Given the description of an element on the screen output the (x, y) to click on. 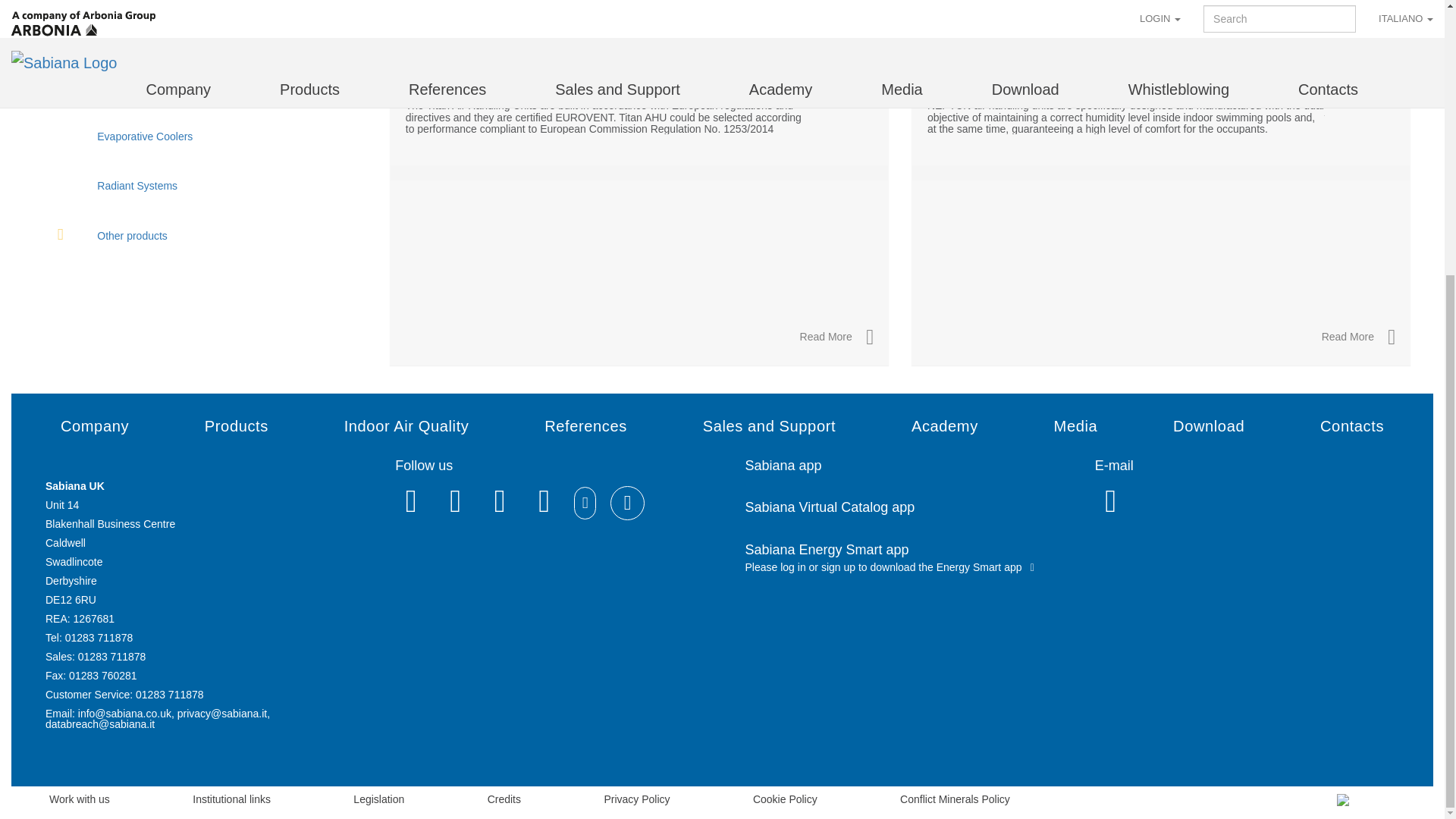
Privacy Policy (807, 799)
Conflict Minerals Policy (976, 799)
Privacy Policy (659, 799)
